Given the description of an element on the screen output the (x, y) to click on. 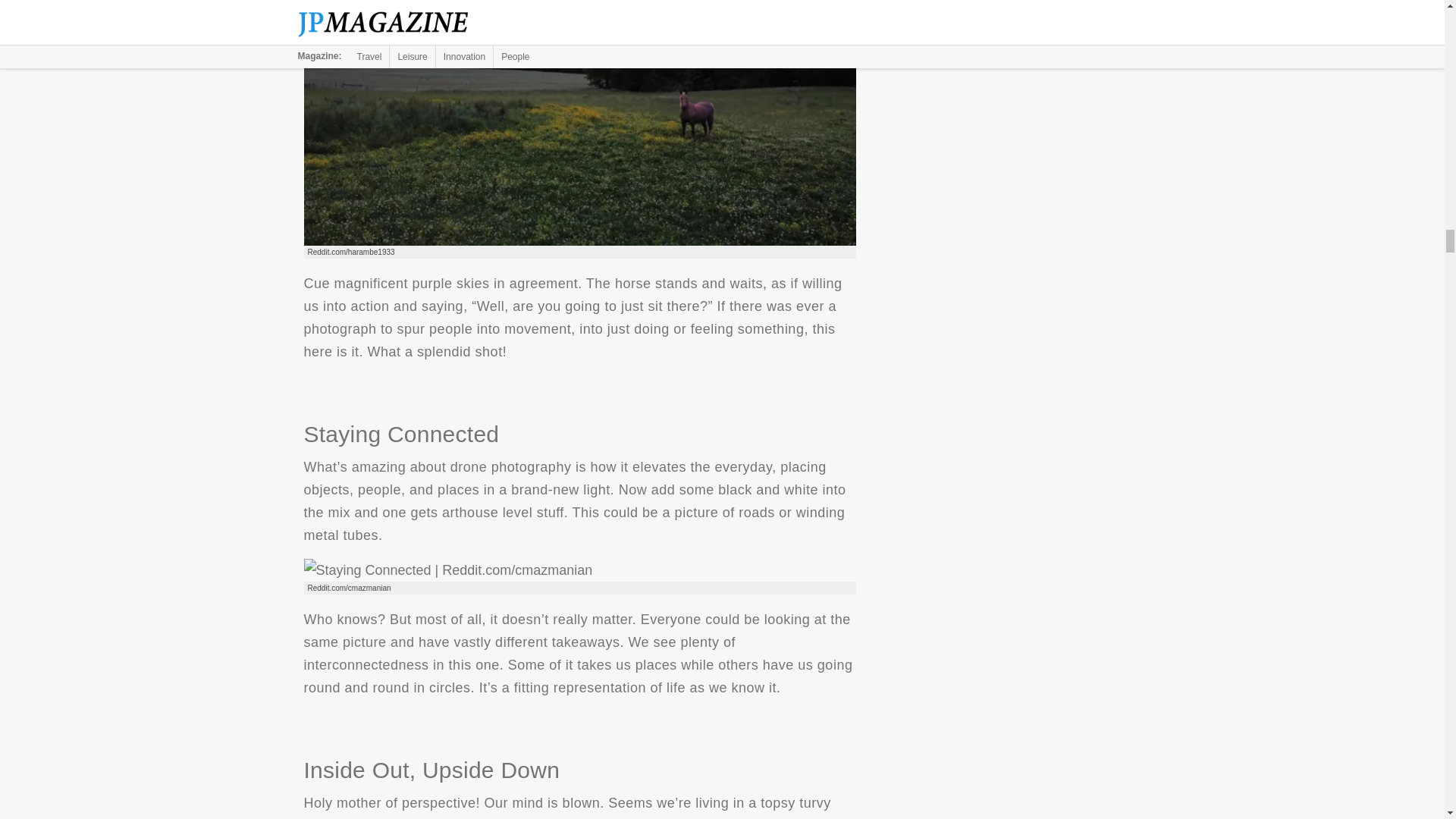
Staying Connected (447, 569)
